Given the description of an element on the screen output the (x, y) to click on. 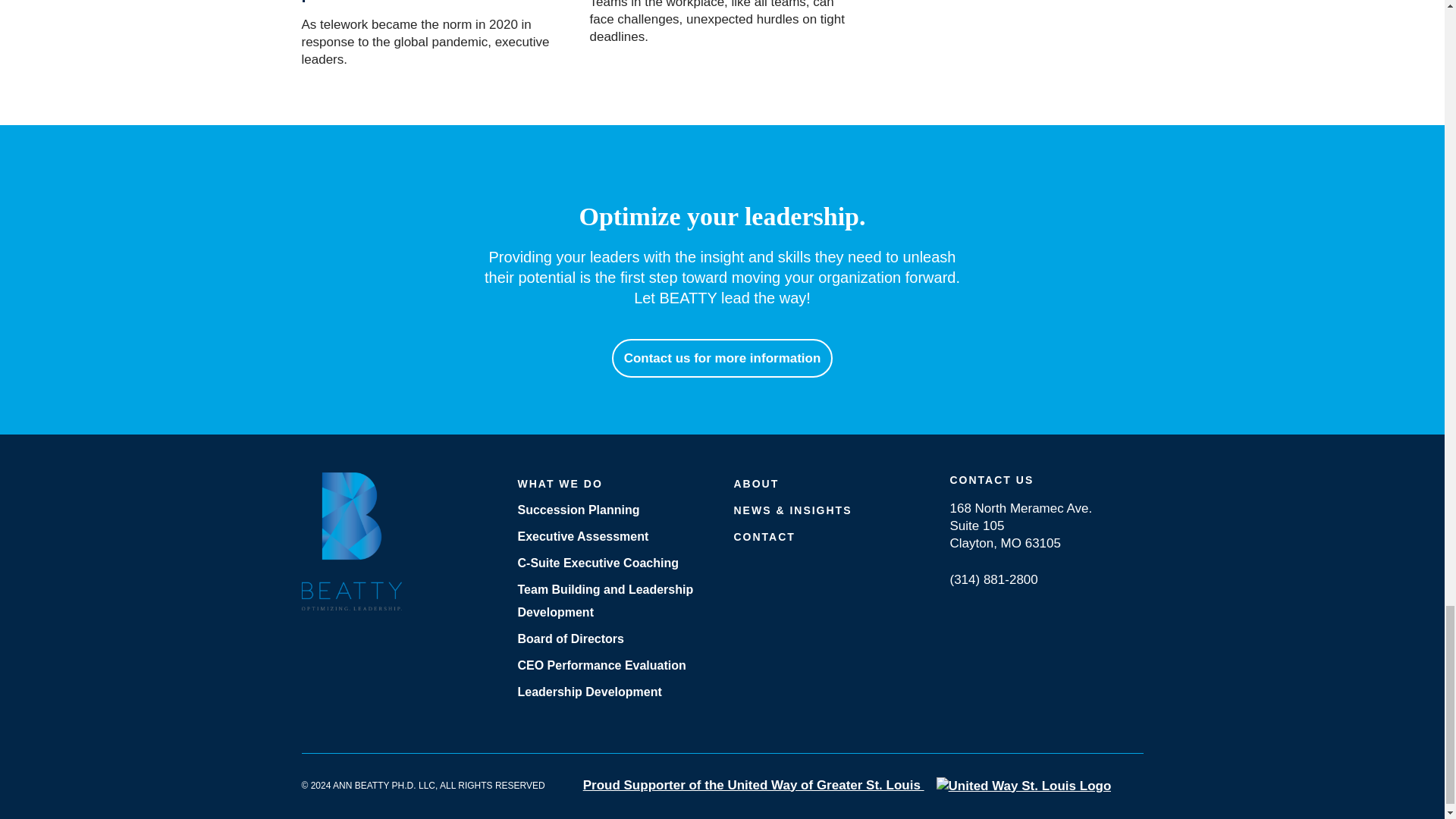
C-Suite Executive Coaching (613, 563)
WHAT WE DO (613, 482)
Succession Planning (613, 509)
Team Building and Leadership Development (613, 600)
What We Do (613, 482)
Executive Assessment (613, 535)
Beatty (351, 540)
Succession Planning (613, 509)
Executive Assessment (613, 535)
Contact us for more information (721, 357)
Team Building and Leadership Development (613, 600)
C-Suite Executive Coaching (613, 563)
Board of Directors (613, 639)
